Given the description of an element on the screen output the (x, y) to click on. 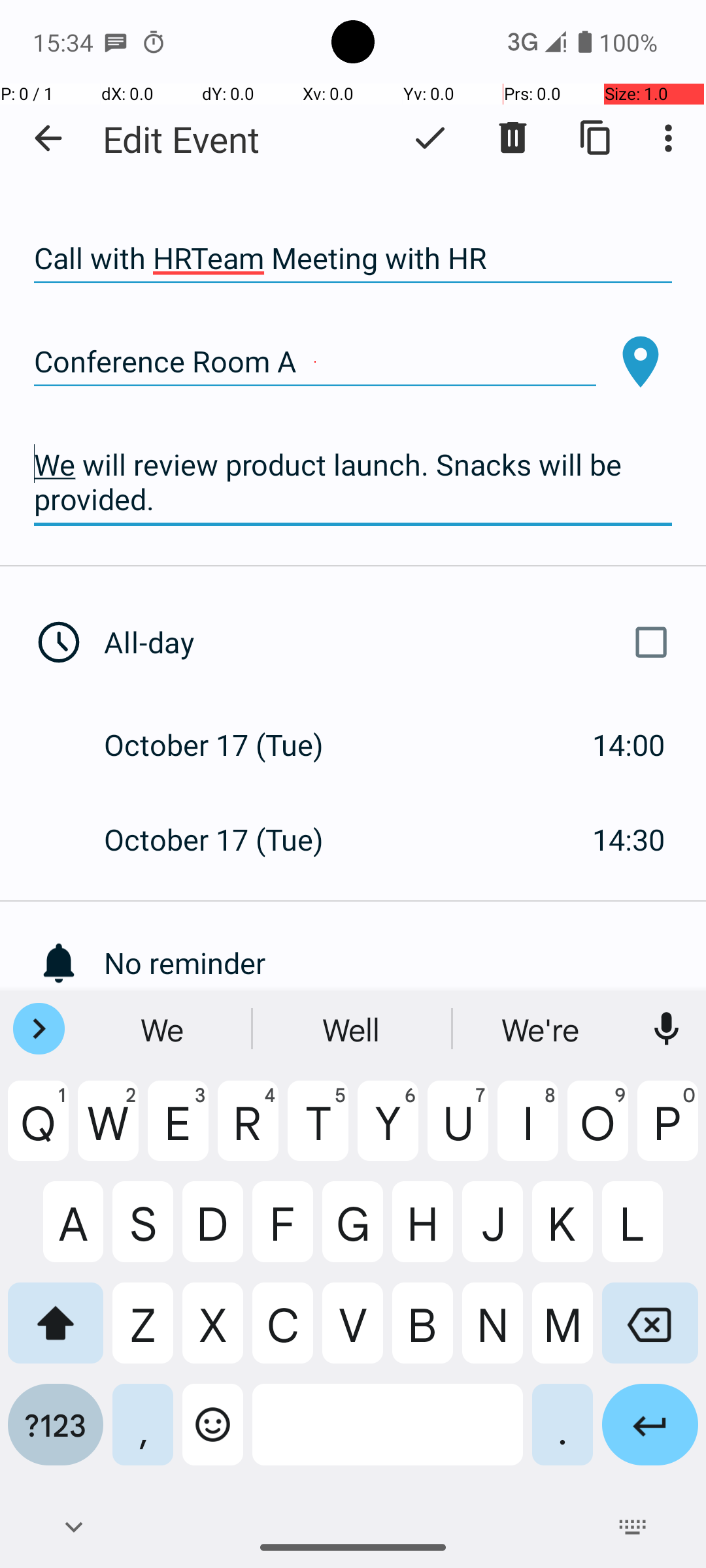
Edit Event Element type: android.widget.TextView (181, 138)
Duplicate event Element type: android.widget.Button (595, 137)
Call with HRTeam Meeting with HR Element type: android.widget.EditText (352, 258)
Conference Room A Element type: android.widget.EditText (314, 361)
We will review product launch. Snacks will be provided. Element type: android.widget.EditText (352, 482)
October 17 (Tue) Element type: android.widget.TextView (227, 744)
14:00 Element type: android.widget.TextView (628, 744)
14:30 Element type: android.widget.TextView (628, 838)
No reminder Element type: android.widget.TextView (404, 962)
All-day Element type: android.widget.CheckBox (390, 642)
We Element type: android.widget.FrameLayout (163, 1028)
Well Element type: android.widget.FrameLayout (352, 1028)
We're Element type: android.widget.FrameLayout (541, 1028)
